Given the description of an element on the screen output the (x, y) to click on. 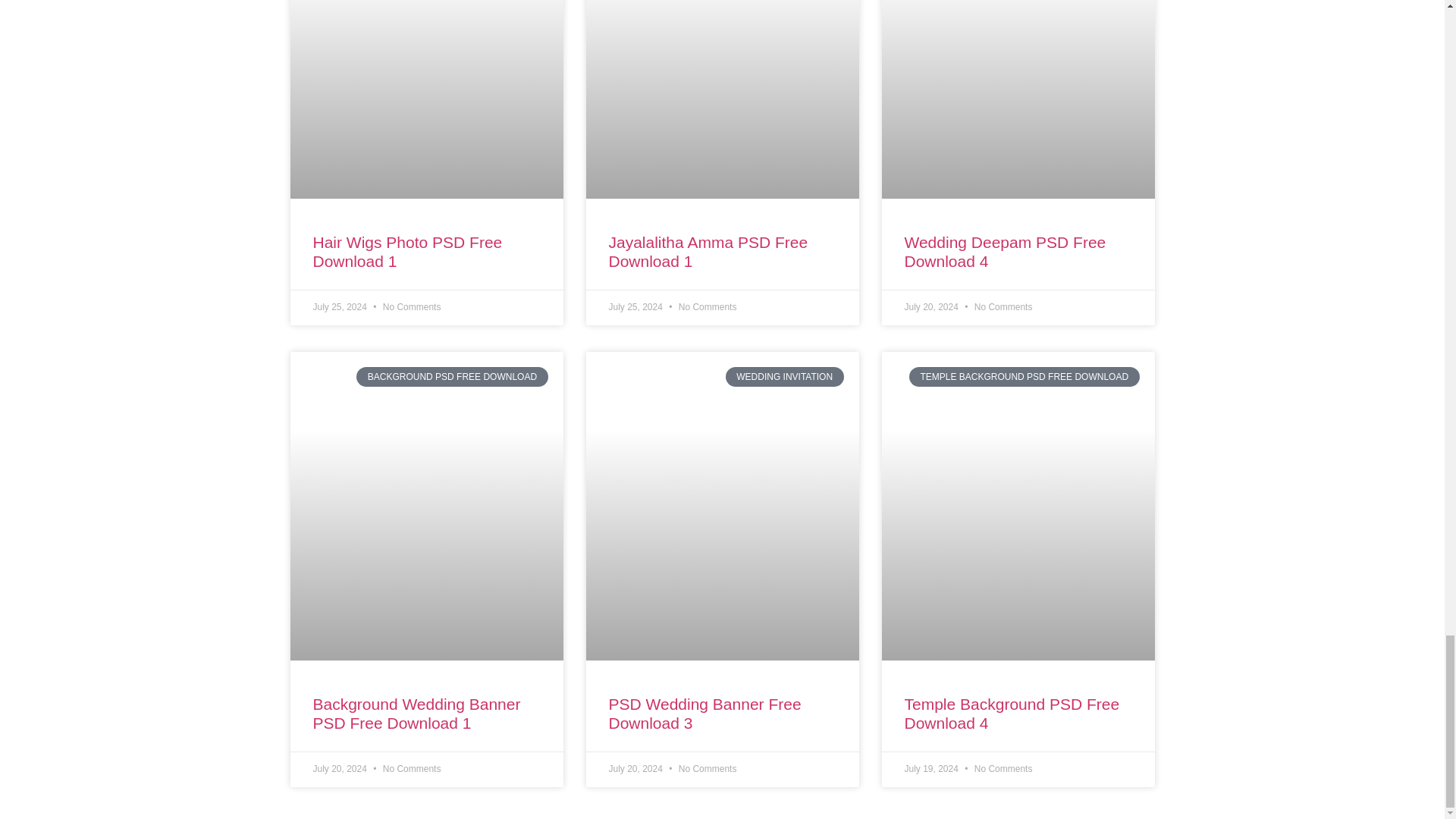
PSD Wedding Banner Free Download 3 (704, 713)
Jayalalitha Amma PSD Free Download 1 (708, 251)
Background Wedding Banner PSD Free Download 1 (416, 713)
Temple Background PSD Free Download 4 (1011, 713)
Hair Wigs Photo PSD Free Download 1 (407, 251)
Wedding Deepam PSD Free Download 4 (1004, 251)
